Given the description of an element on the screen output the (x, y) to click on. 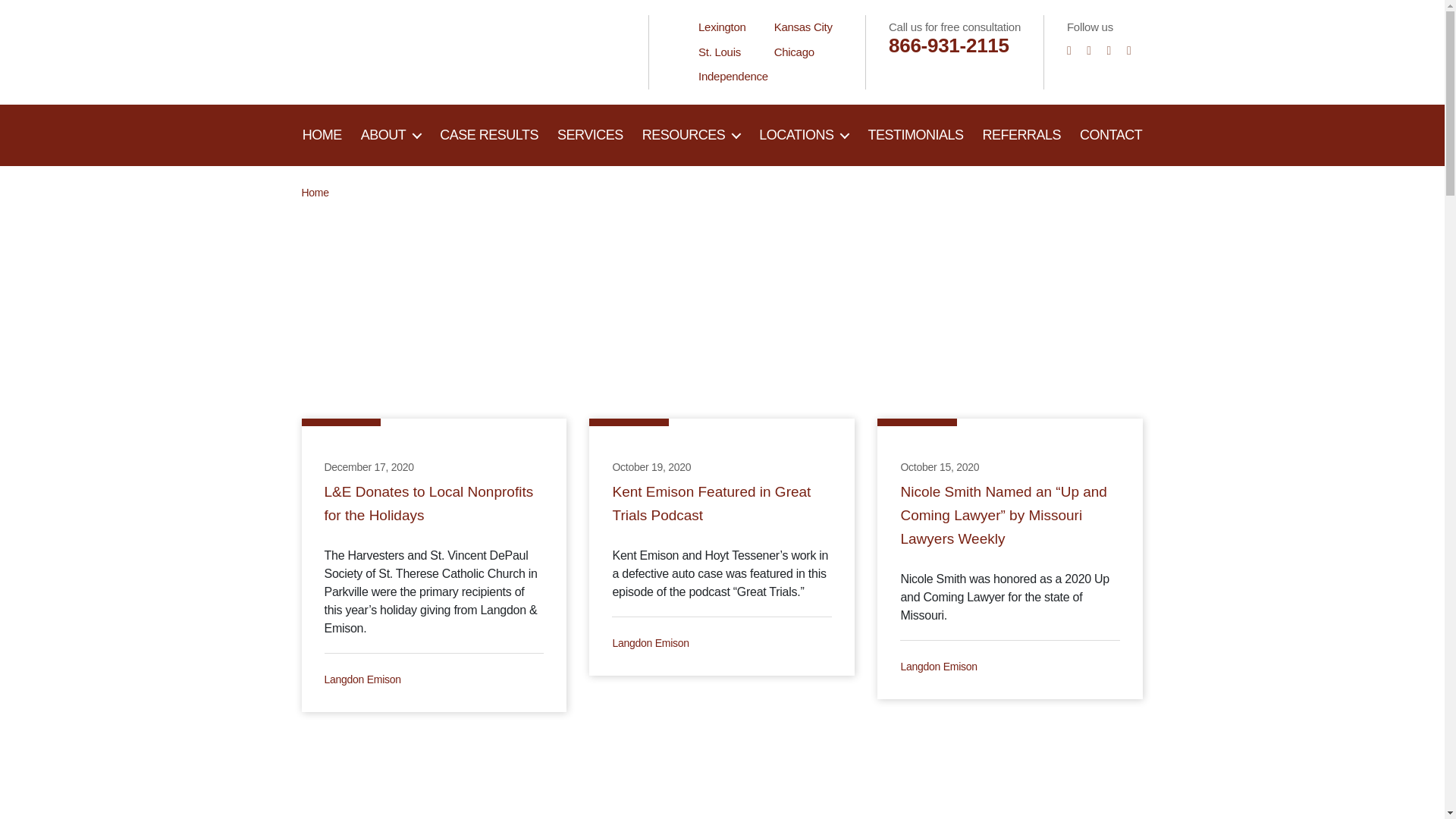
LOCATIONS (803, 135)
Case Results (488, 135)
Resources (691, 135)
SERVICES (590, 135)
HOME (322, 135)
Lexington (721, 26)
Chicago (793, 51)
Services (590, 135)
Kansas City (803, 26)
CASE RESULTS (488, 135)
Independence (733, 75)
About (391, 135)
St. Louis (719, 51)
About (322, 135)
ABOUT (391, 135)
